Given the description of an element on the screen output the (x, y) to click on. 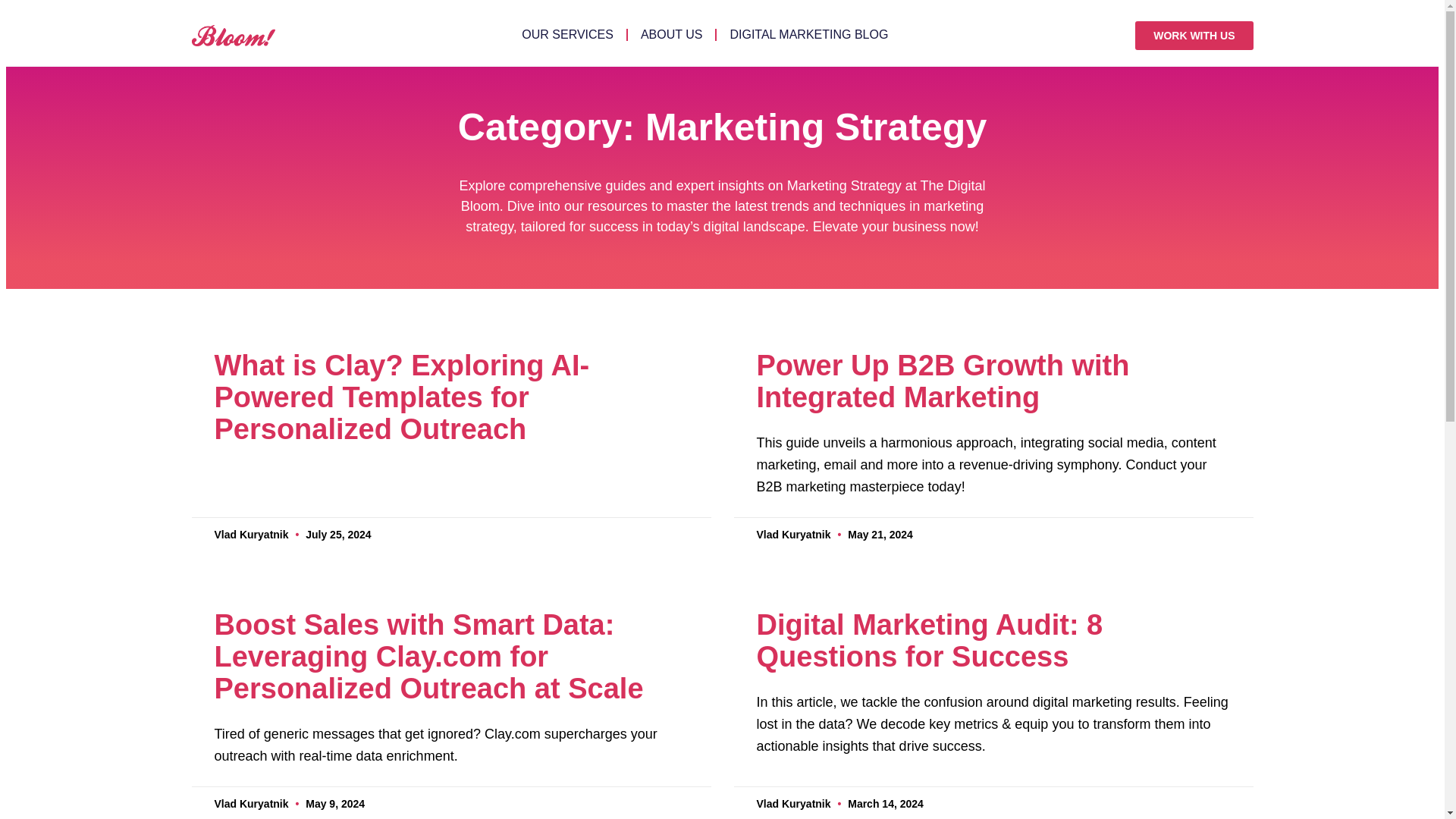
The Digital Bloom:Inbound Marketing Agency (232, 35)
OUR SERVICES (566, 34)
DIGITAL MARKETING BLOG (808, 34)
WORK WITH US (1193, 35)
Digital Marketing Audit: 8 Questions for Success (930, 640)
ABOUT US (671, 34)
Power Up B2B Growth with Integrated Marketing (943, 381)
